Given the description of an element on the screen output the (x, y) to click on. 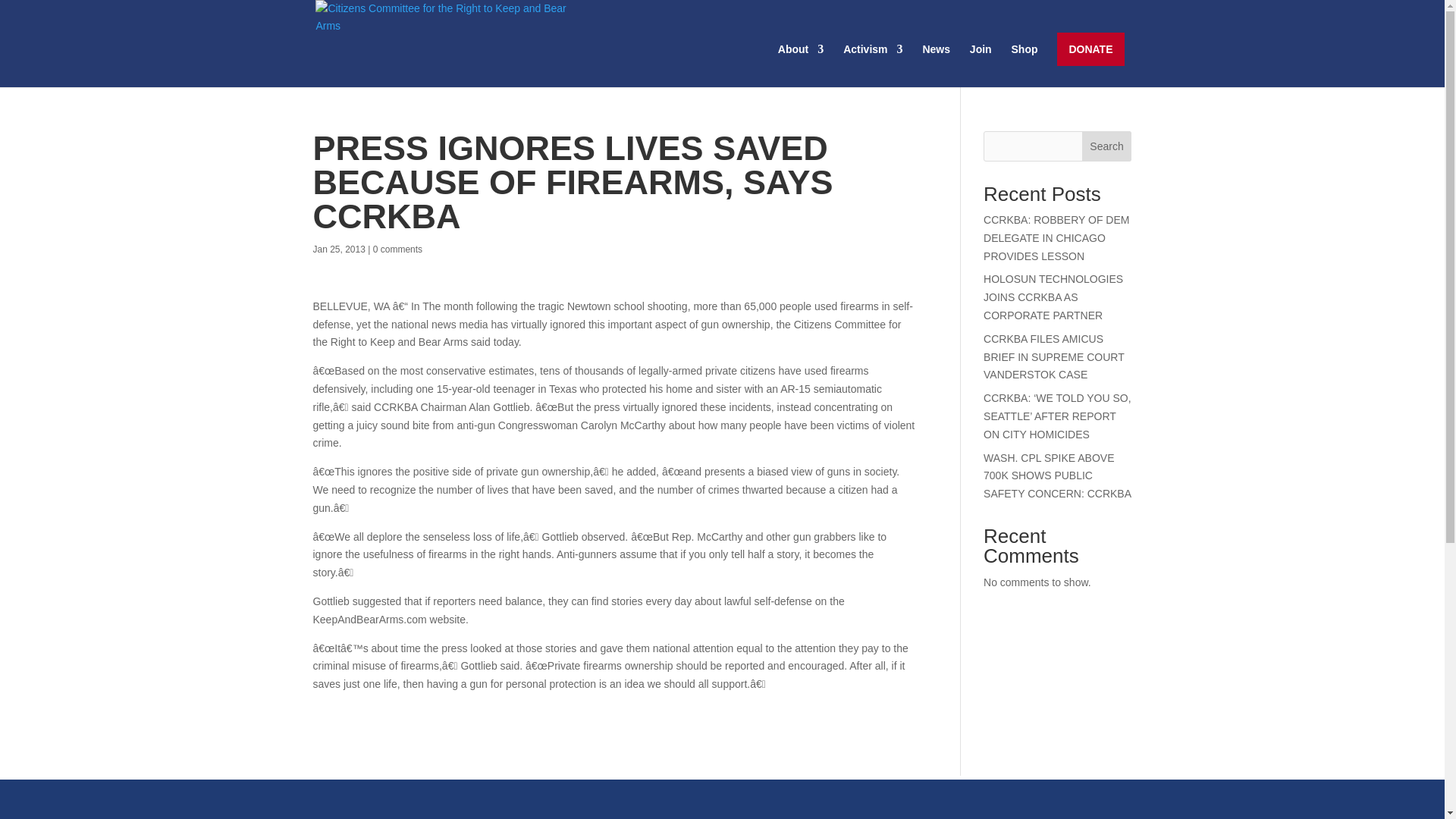
About (800, 65)
CCRKBA FILES AMICUS BRIEF IN SUPREME COURT VANDERSTOK CASE (1054, 356)
Search (1106, 146)
HOLOSUN TECHNOLOGIES JOINS CCRKBA AS CORPORATE PARTNER (1053, 296)
CCRKBA: ROBBERY OF DEM DELEGATE IN CHICAGO PROVIDES LESSON (1056, 237)
0 comments (397, 249)
DONATE (1090, 49)
Activism (872, 65)
